Given the description of an element on the screen output the (x, y) to click on. 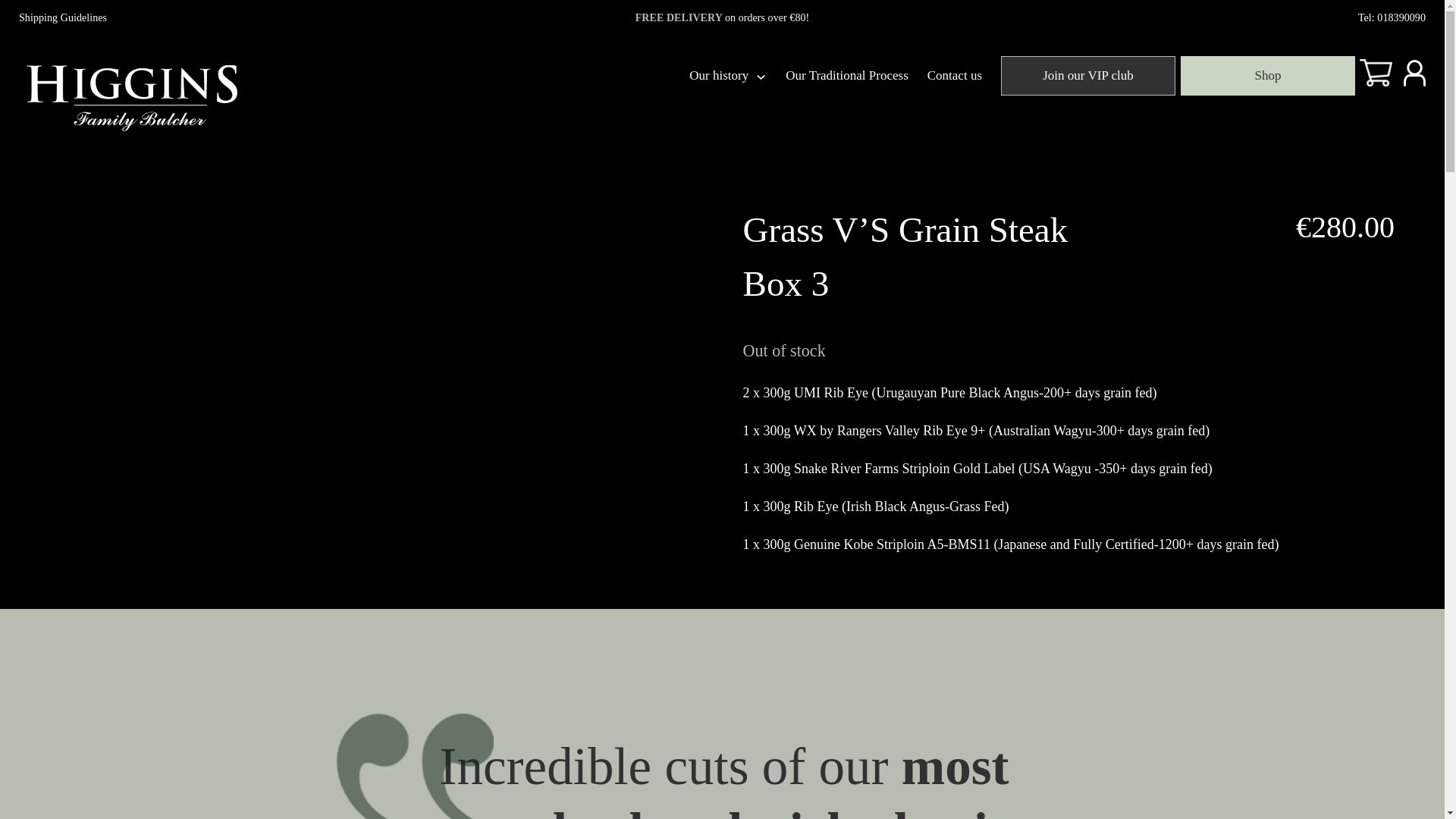
Shop (1267, 75)
Our history (718, 74)
Our Traditional Process (847, 74)
Shipping Guidelines (62, 17)
Contact us (954, 74)
Join our VIP club (1087, 75)
Tel: 018390090 (1391, 17)
